Given the description of an element on the screen output the (x, y) to click on. 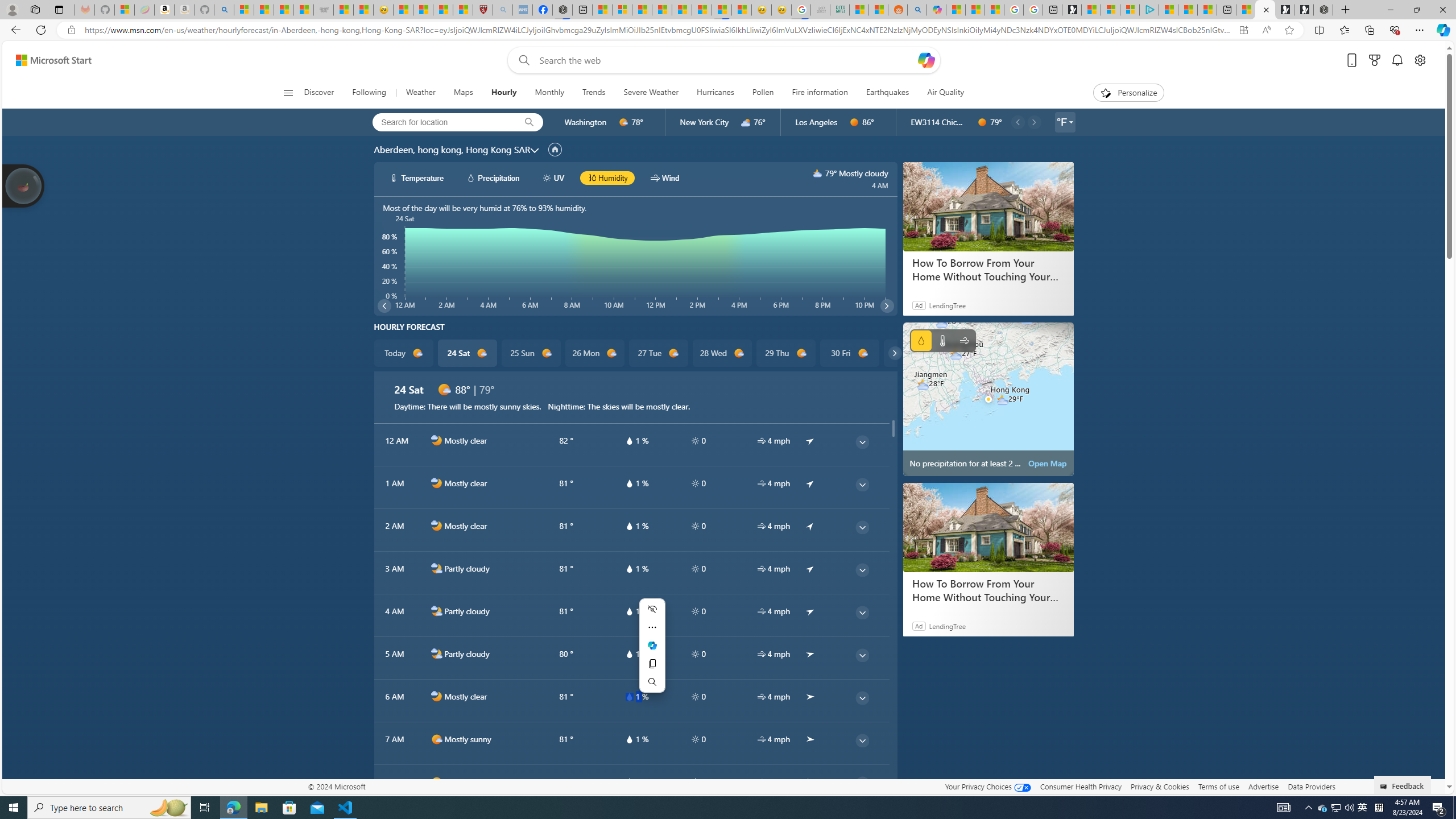
Pollen (762, 92)
Maps (462, 92)
26 Mon d1000 (594, 352)
locationName/setHomeLocation (555, 149)
25 Sun d1000 (530, 352)
